Given the description of an element on the screen output the (x, y) to click on. 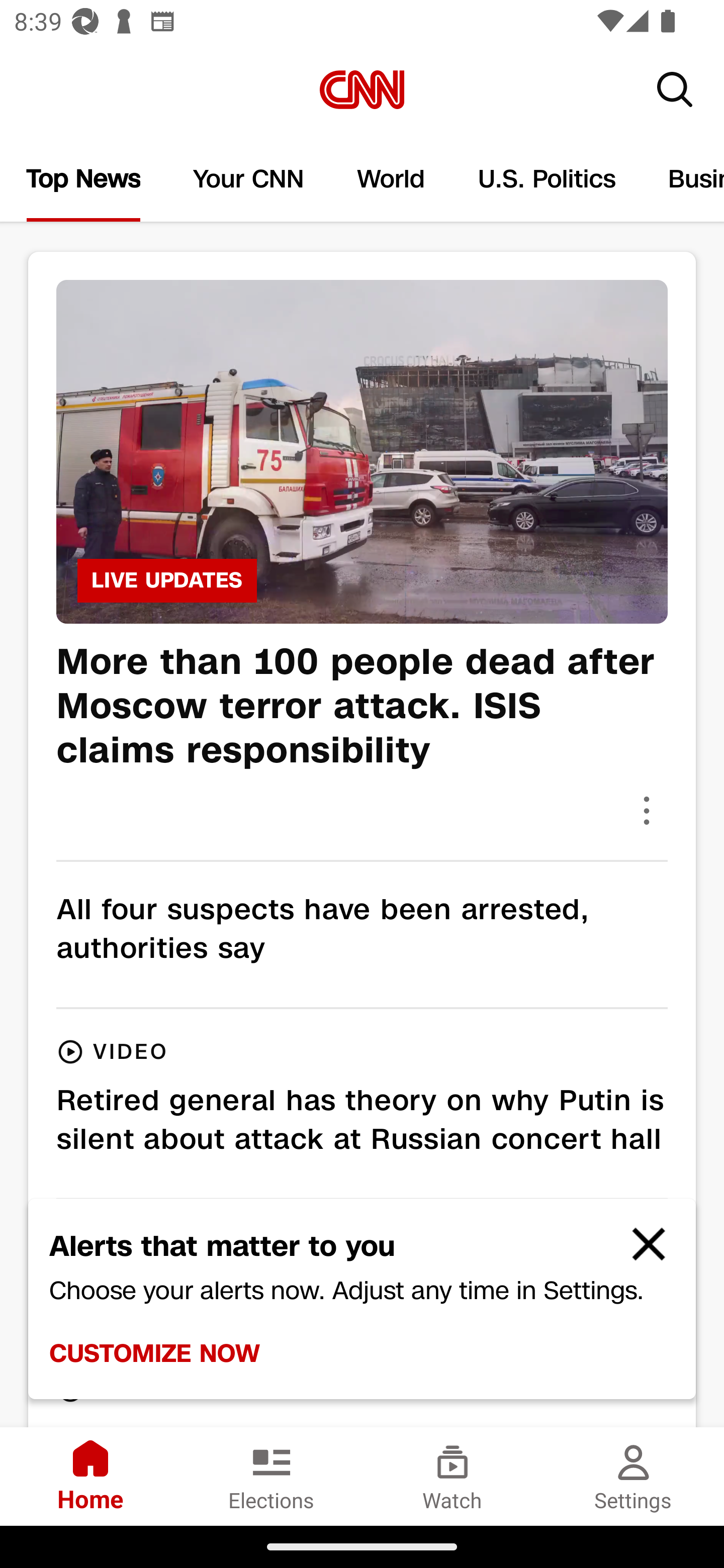
Your CNN (248, 179)
World (390, 179)
U.S. Politics (546, 179)
More actions (646, 810)
close (639, 1251)
Elections (271, 1475)
Watch (452, 1475)
Settings (633, 1475)
